Given the description of an element on the screen output the (x, y) to click on. 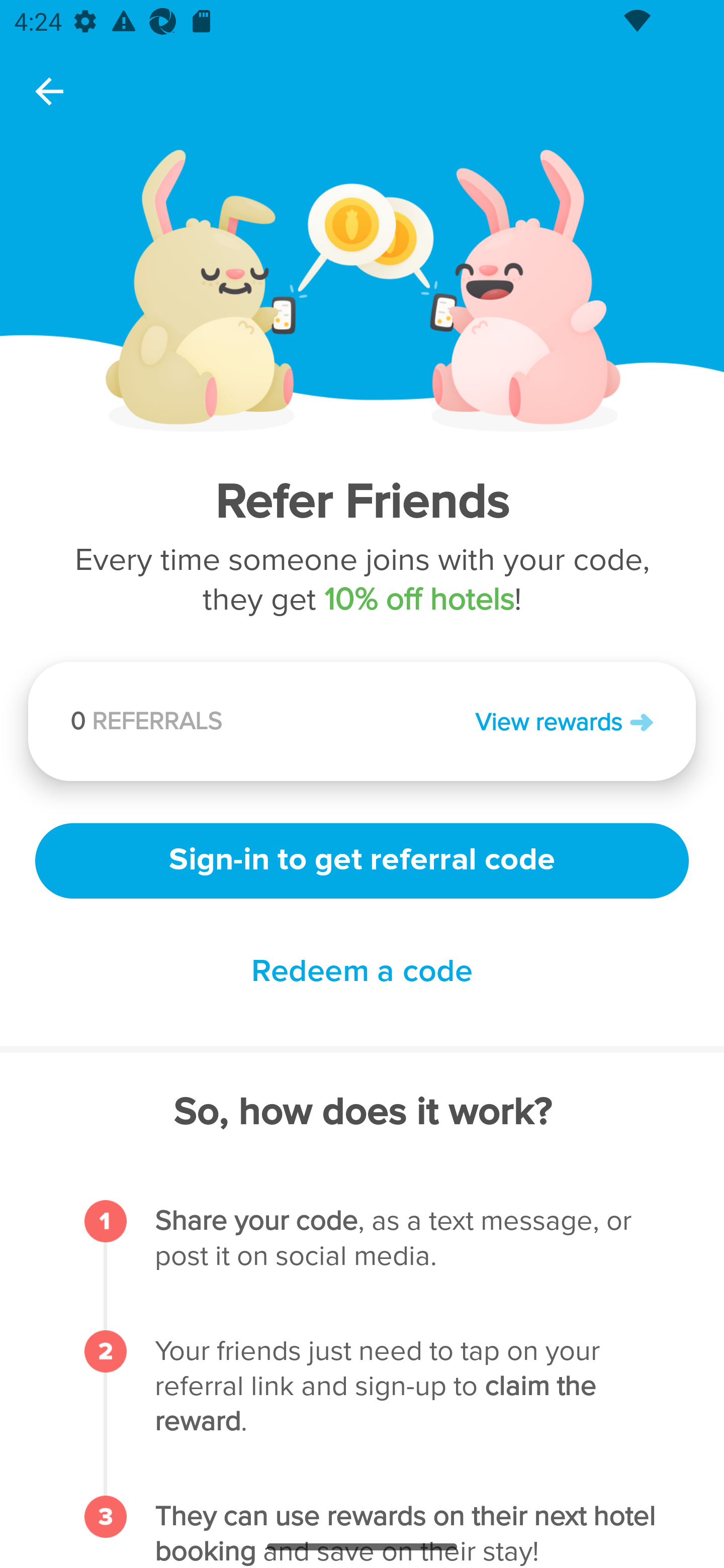
Navigate up (49, 91)
‍Trees planted. Travel more sustainably on Hopper. (259, 726)
‍View rewards ➜ (507, 721)
‍Sign-in to get referral code (361, 858)
‍Redeem a code (361, 971)
